Given the description of an element on the screen output the (x, y) to click on. 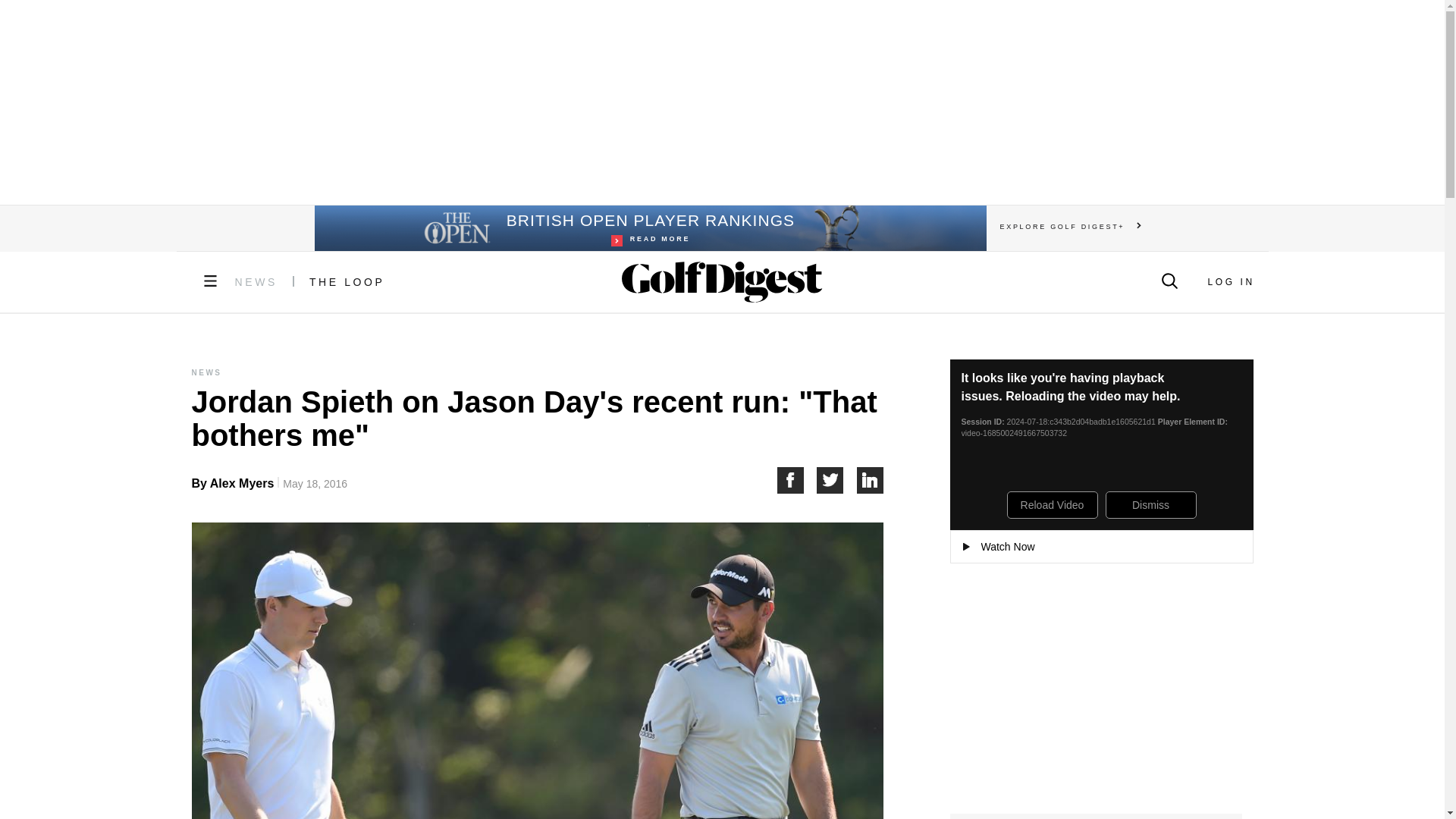
3rd party ad content (721, 101)
Share on LinkedIn (870, 479)
NEWS (256, 282)
Share on Twitter (836, 479)
Share on Facebook (796, 479)
LOG IN (1230, 281)
THE LOOP (649, 227)
